Given the description of an element on the screen output the (x, y) to click on. 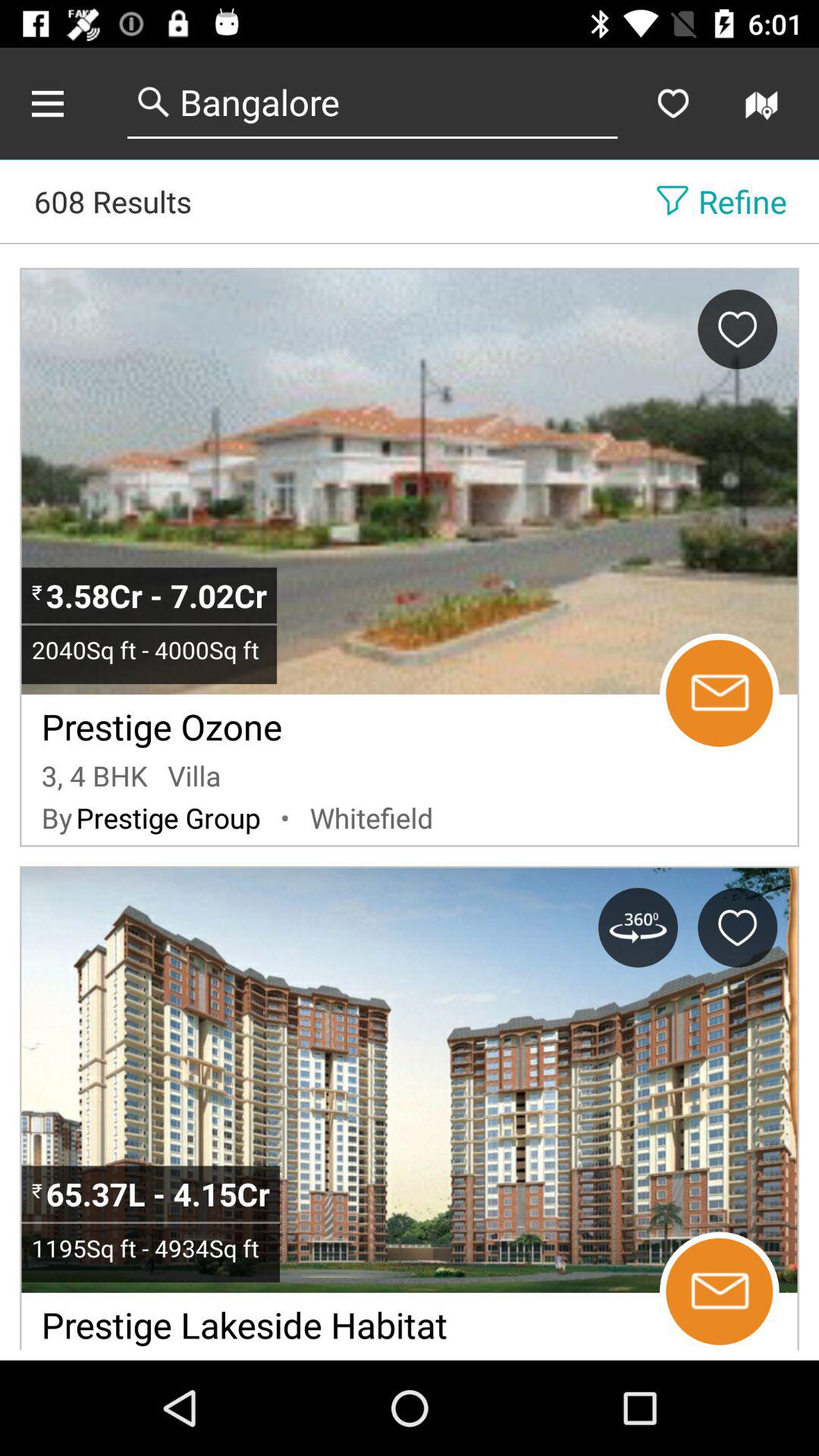
open more options (63, 103)
